Given the description of an element on the screen output the (x, y) to click on. 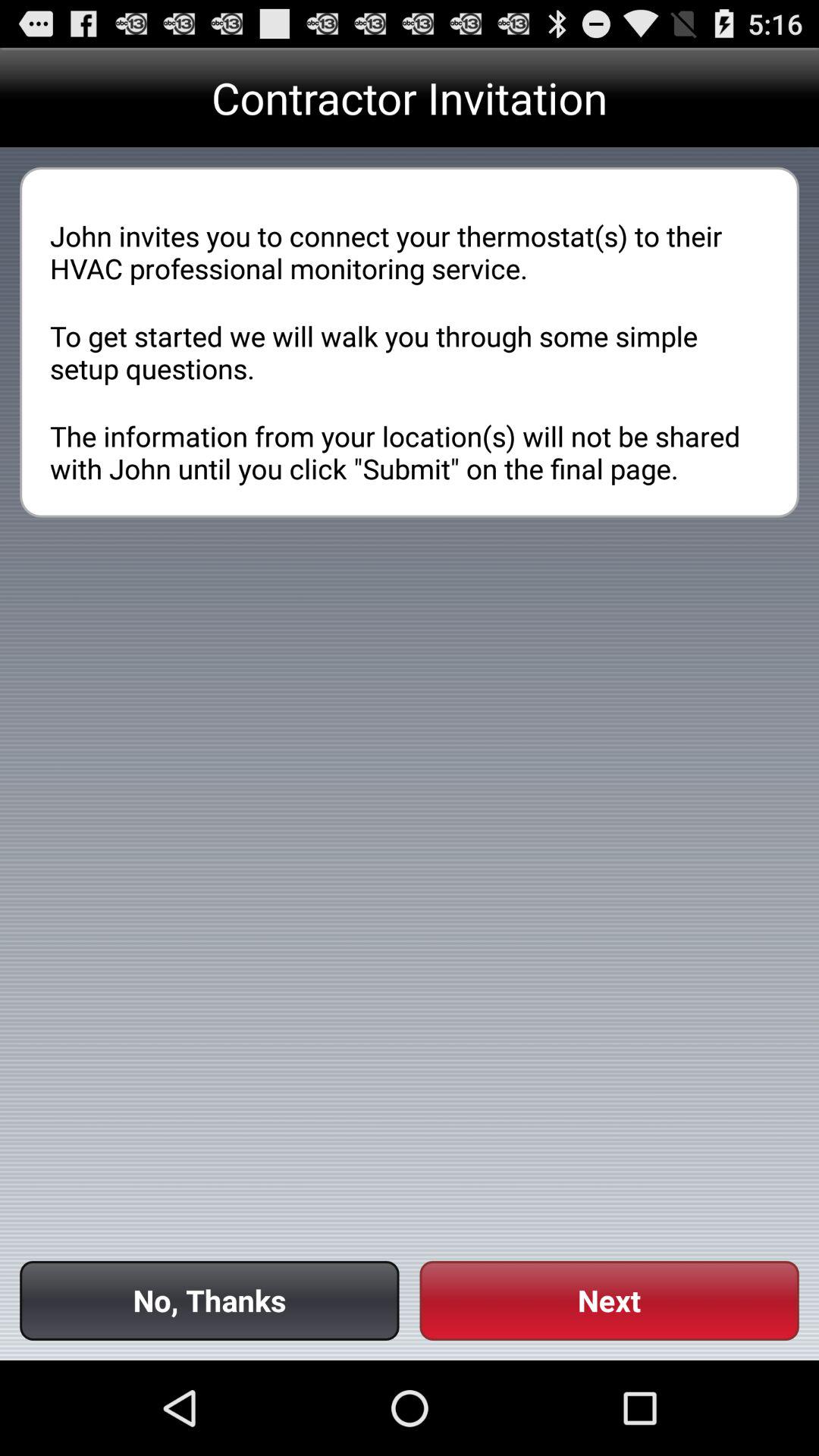
tap the icon at the bottom right corner (609, 1300)
